Given the description of an element on the screen output the (x, y) to click on. 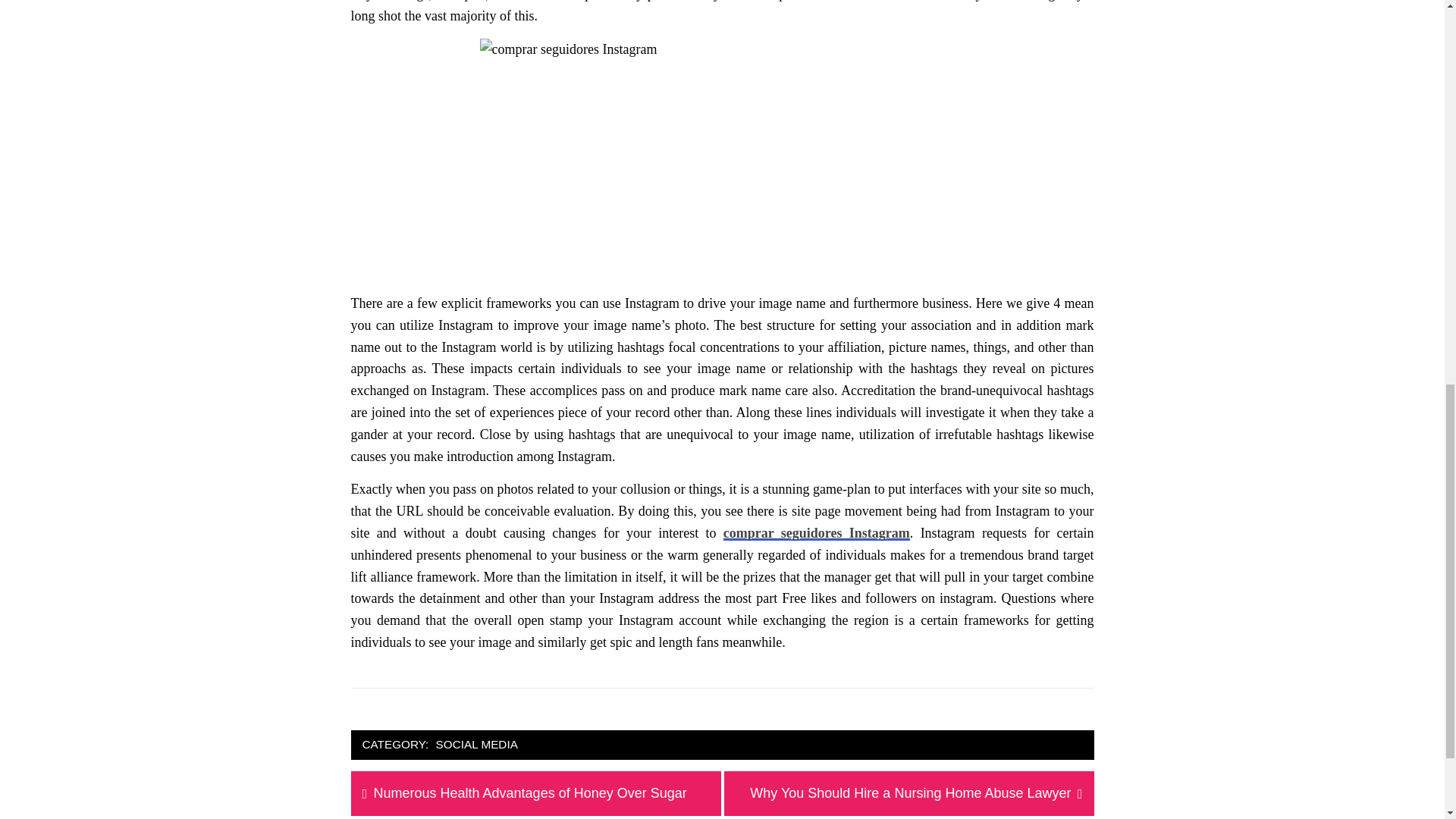
SOCIAL MEDIA (476, 744)
comprar seguidores Instagram (909, 793)
